Given the description of an element on the screen output the (x, y) to click on. 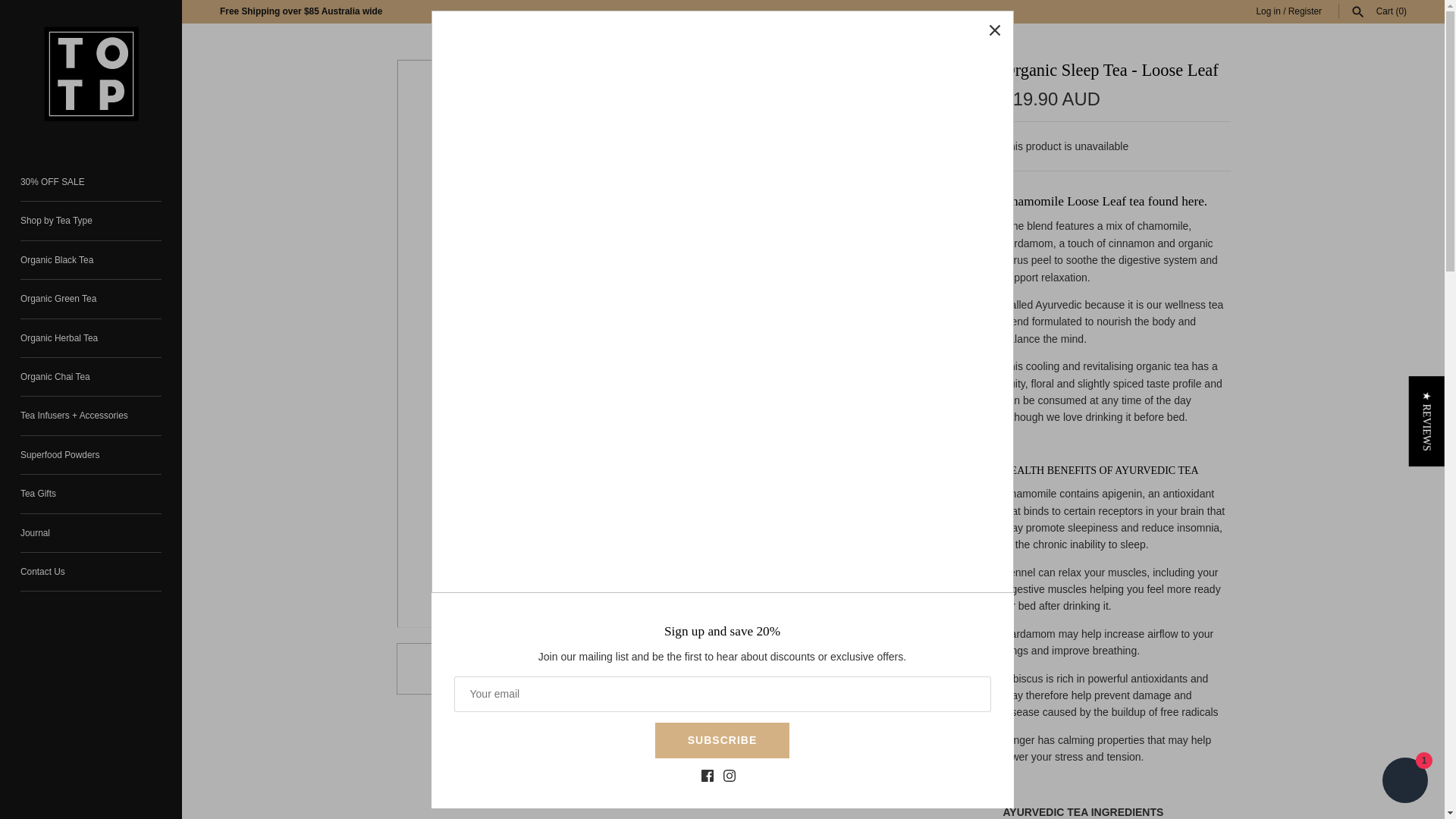
Organic Green Tea (90, 299)
Organic Black Tea (90, 260)
Journal (90, 533)
Contact Us (90, 571)
Register (1305, 10)
theorganicteaproject.com (91, 73)
Tea Gifts (90, 494)
Superfood Powders (90, 455)
Organic Herbal Tea (90, 338)
Log in (1267, 10)
Organic Chai Tea (90, 376)
Shop by Tea Type (90, 220)
Shopify online store chat (1404, 781)
